Given the description of an element on the screen output the (x, y) to click on. 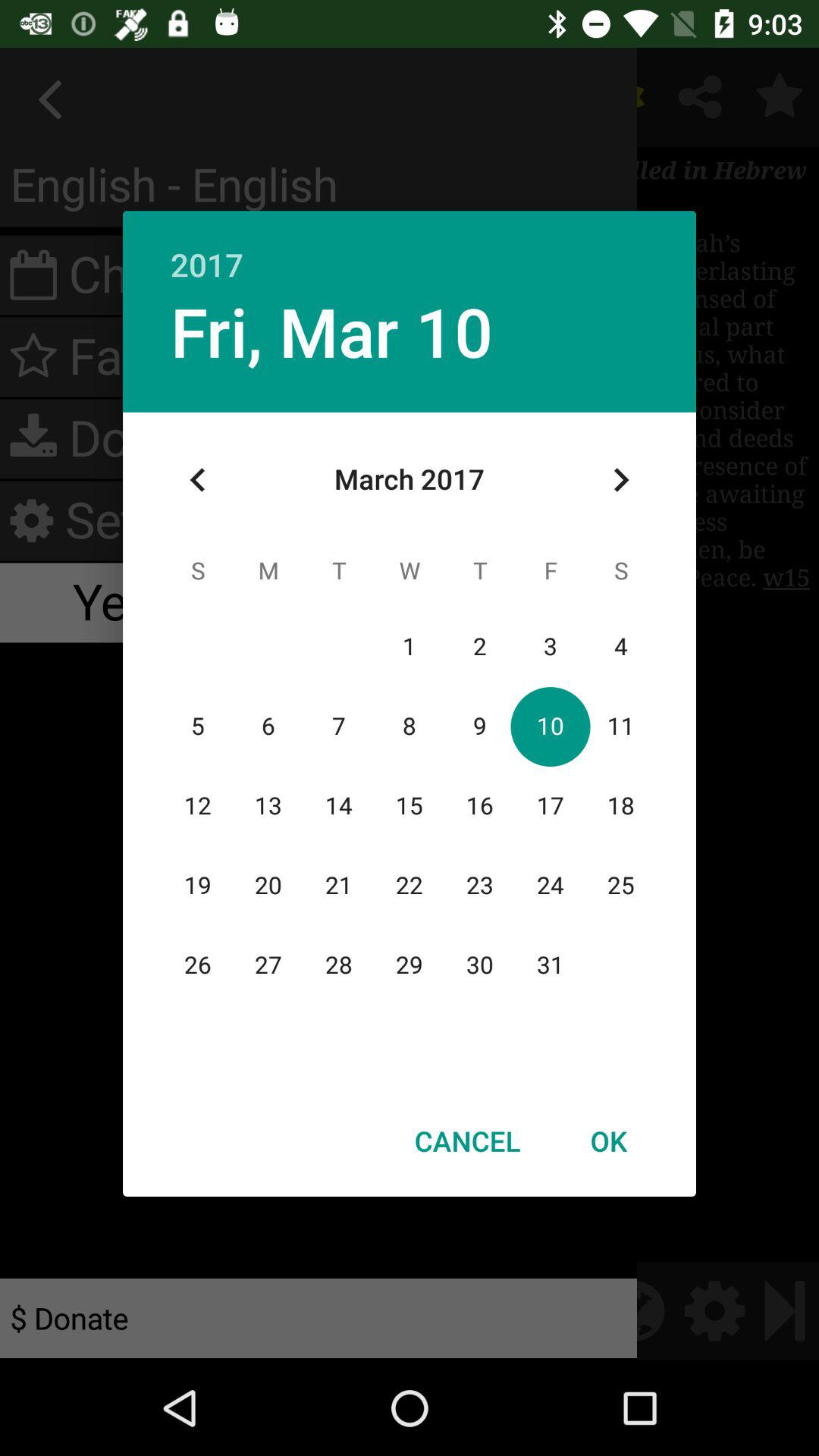
tap the ok at the bottom right corner (608, 1140)
